Given the description of an element on the screen output the (x, y) to click on. 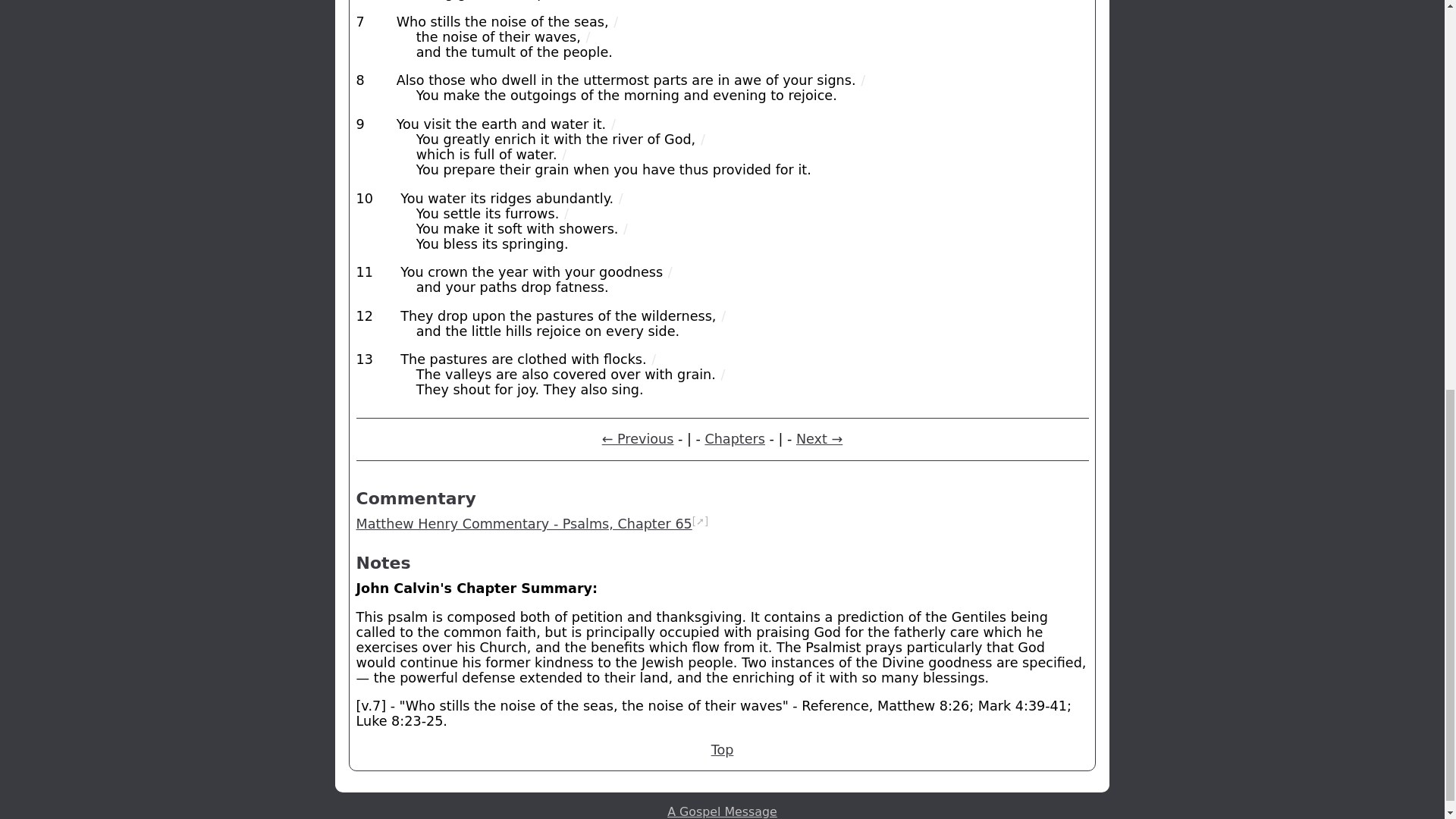
Matthew Henry Commentary - Psalms, Chapter 65 (524, 523)
Top (722, 749)
Chapters (734, 438)
